Given the description of an element on the screen output the (x, y) to click on. 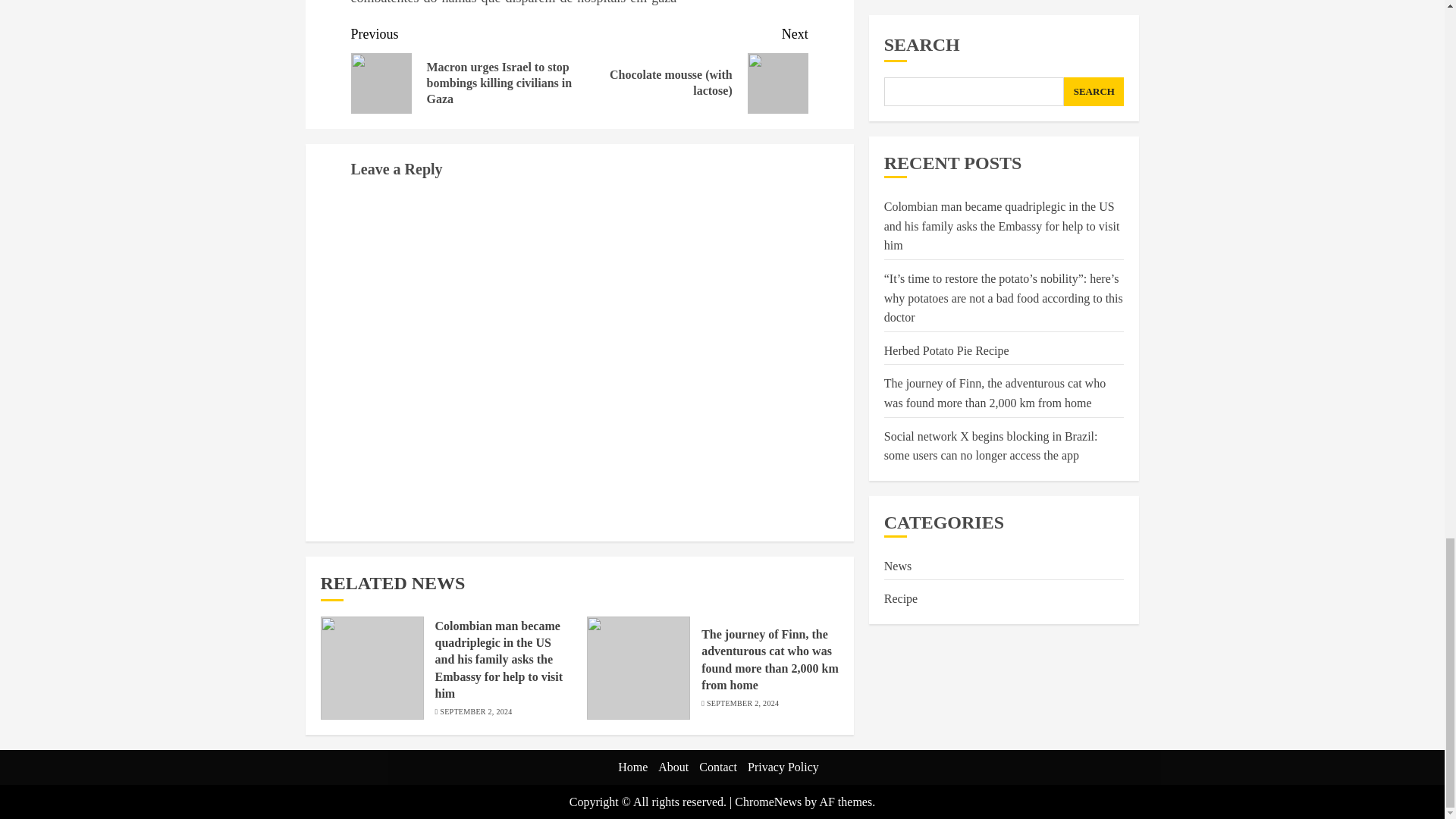
SEPTEMBER 2, 2024 (742, 703)
Home (632, 766)
About (673, 766)
Privacy Policy (783, 766)
Contact (717, 766)
SEPTEMBER 2, 2024 (475, 711)
